Given the description of an element on the screen output the (x, y) to click on. 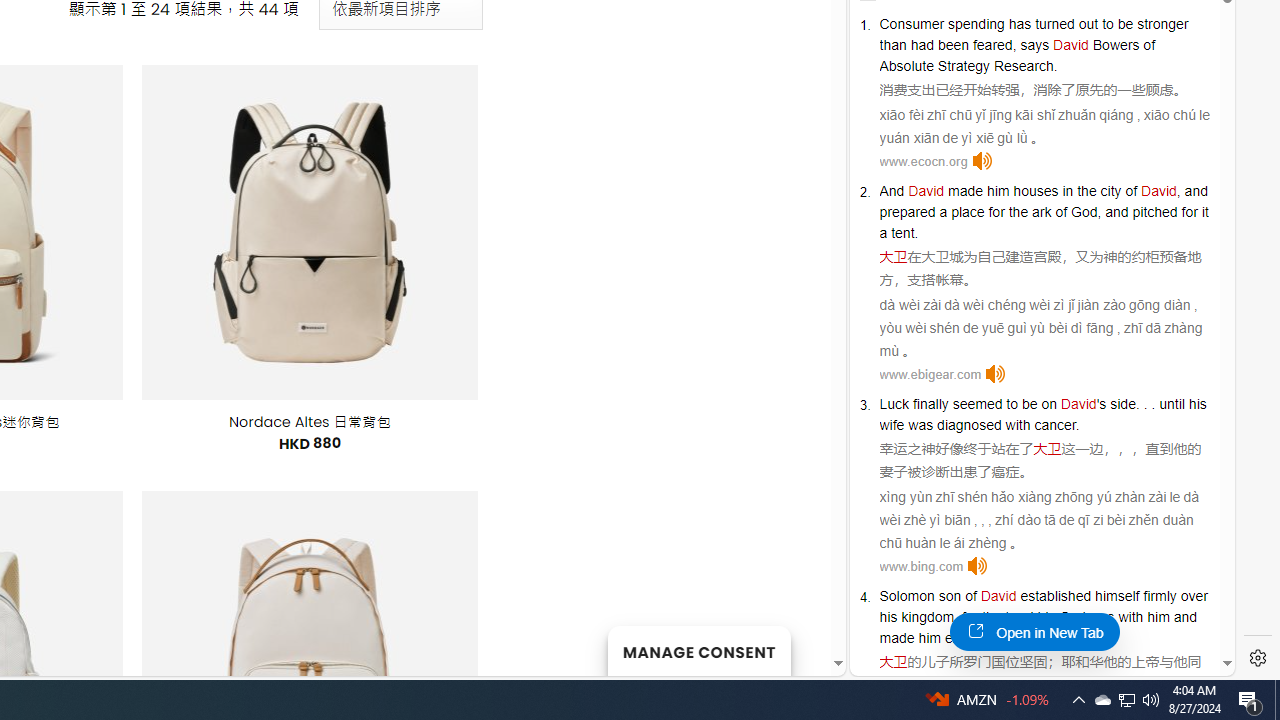
ark (1041, 211)
out (1088, 23)
side (1122, 403)
with (1130, 616)
was (1101, 616)
's (1101, 403)
spending (975, 23)
